Given the description of an element on the screen output the (x, y) to click on. 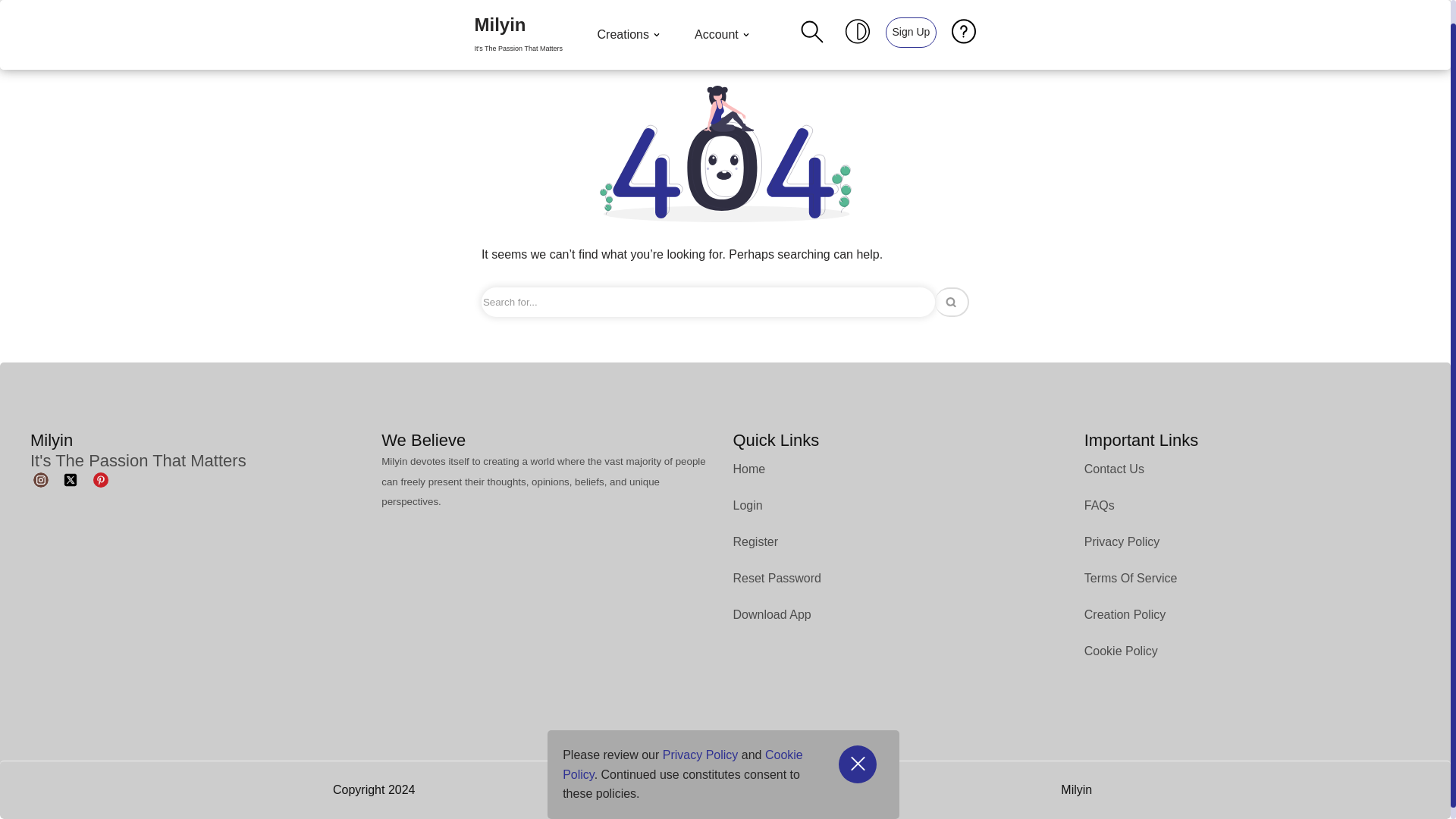
Sign Up (911, 19)
Account (724, 21)
Skip to content (11, 18)
Sign Up (910, 19)
Milyin (518, 22)
Creations (629, 21)
